Given the description of an element on the screen output the (x, y) to click on. 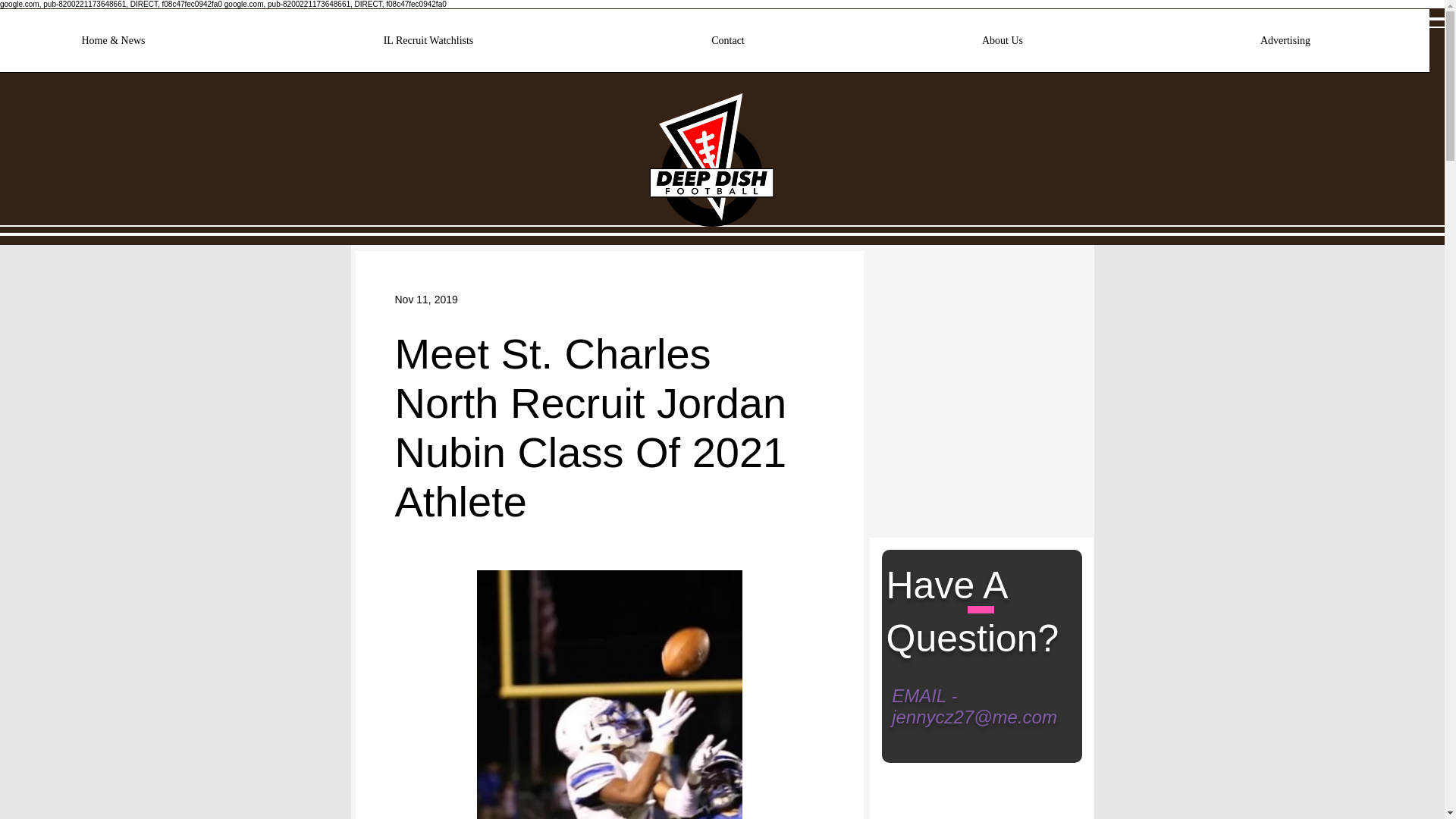
About Us (1002, 45)
Twitter Follow (932, 289)
IL Recruit Watchlists (427, 45)
Advertising (1285, 45)
Contact (727, 45)
Nov 11, 2019 (425, 298)
